Given the description of an element on the screen output the (x, y) to click on. 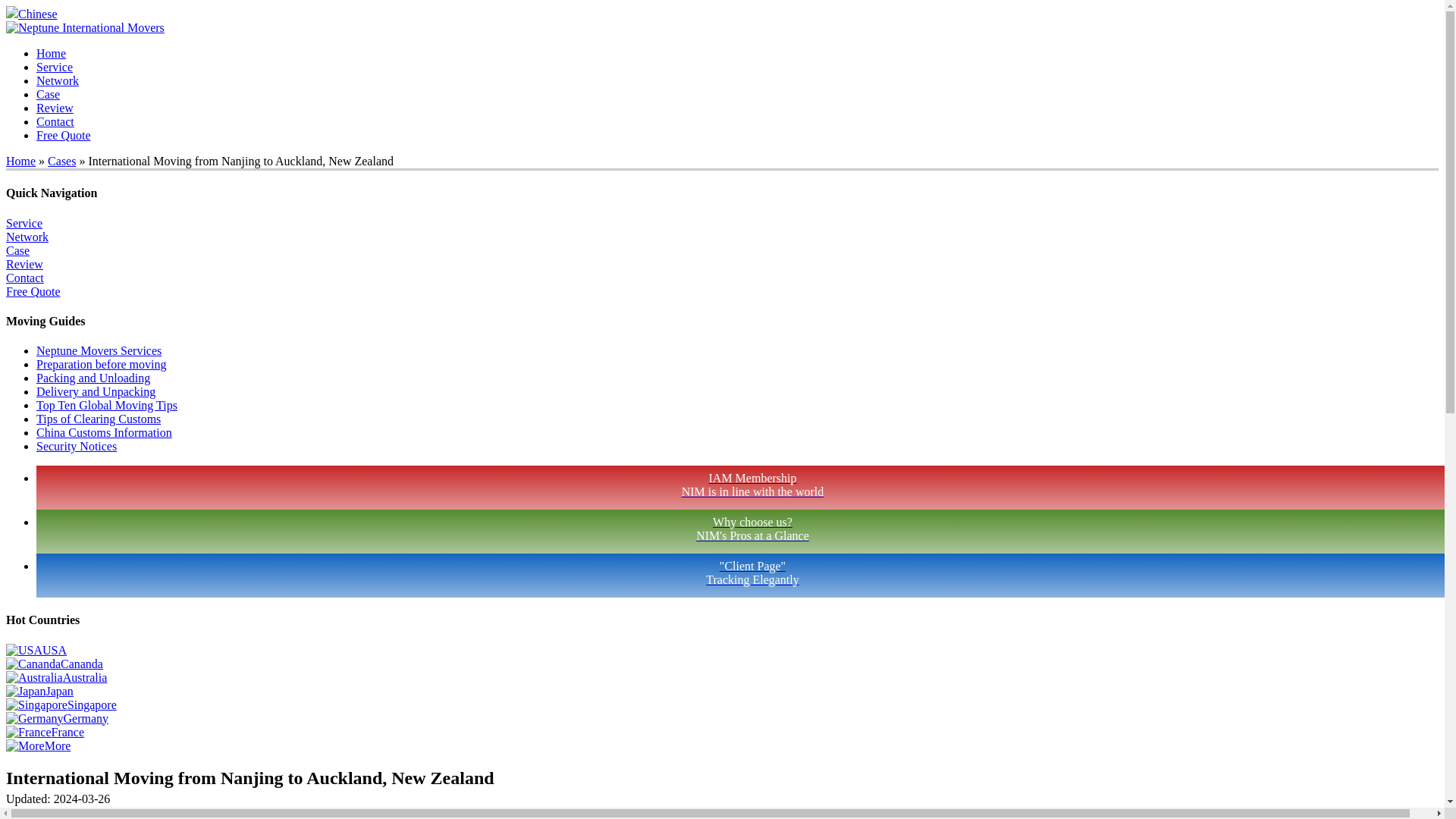
Cananda (54, 663)
Neptune Movers Services (98, 350)
Cases (61, 160)
Packing and Unloading (92, 377)
Australia (55, 676)
Singapore (737, 531)
Top Ten Global Moving Tips (60, 704)
Home (106, 404)
Preparation before moving (50, 52)
